Given the description of an element on the screen output the (x, y) to click on. 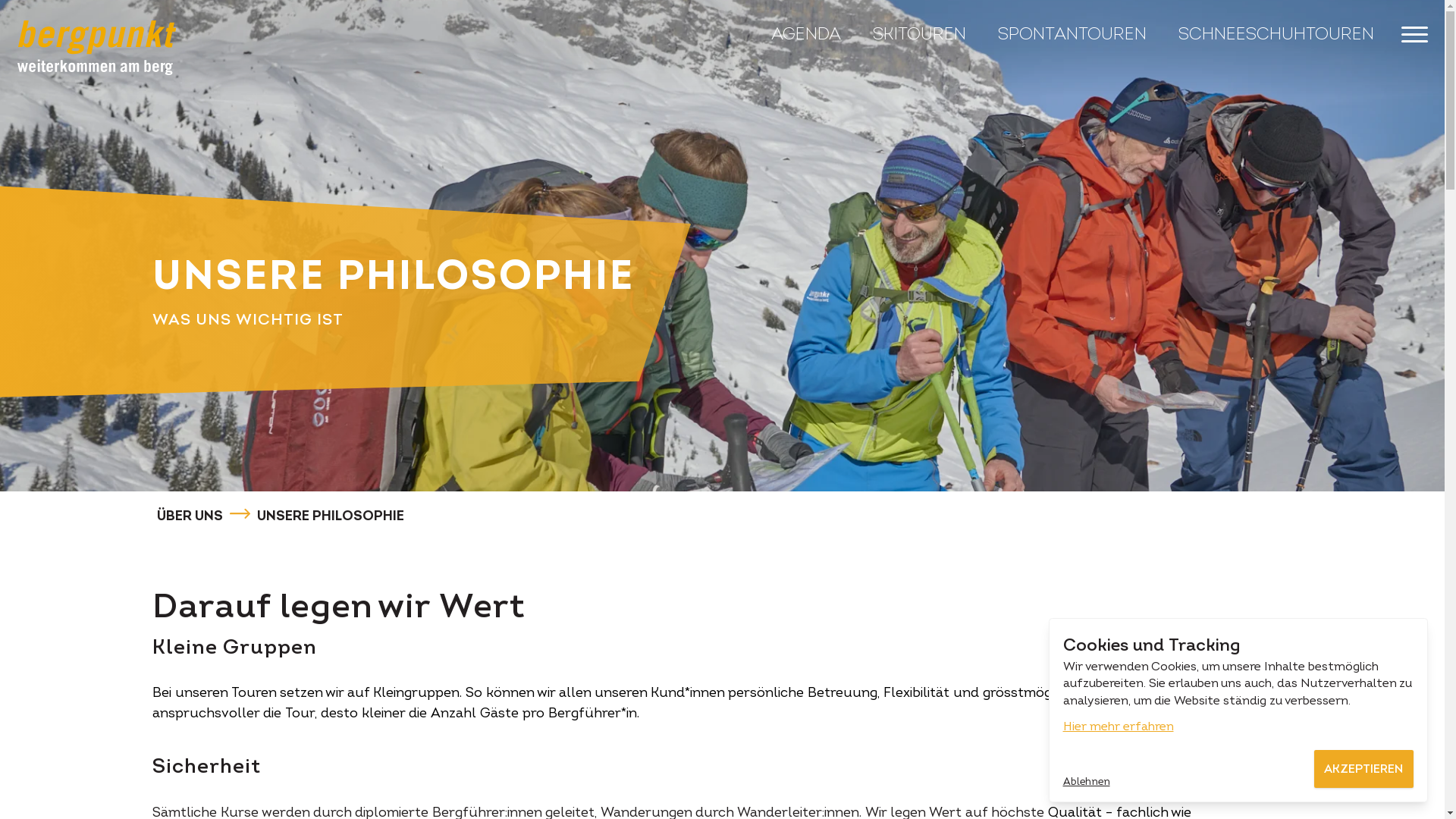
SKITOUREN Element type: text (920, 33)
Hier mehr erfahren Element type: text (1118, 725)
Ablehnen Element type: text (1086, 780)
AKZEPTIEREN Element type: text (1362, 768)
SPONTANTOUREN Element type: text (1074, 33)
SCHNEESCHUHTOUREN Element type: text (1276, 33)
AGENDA Element type: text (807, 33)
UNSERE PHILOSOPHIE Element type: text (330, 515)
